Given the description of an element on the screen output the (x, y) to click on. 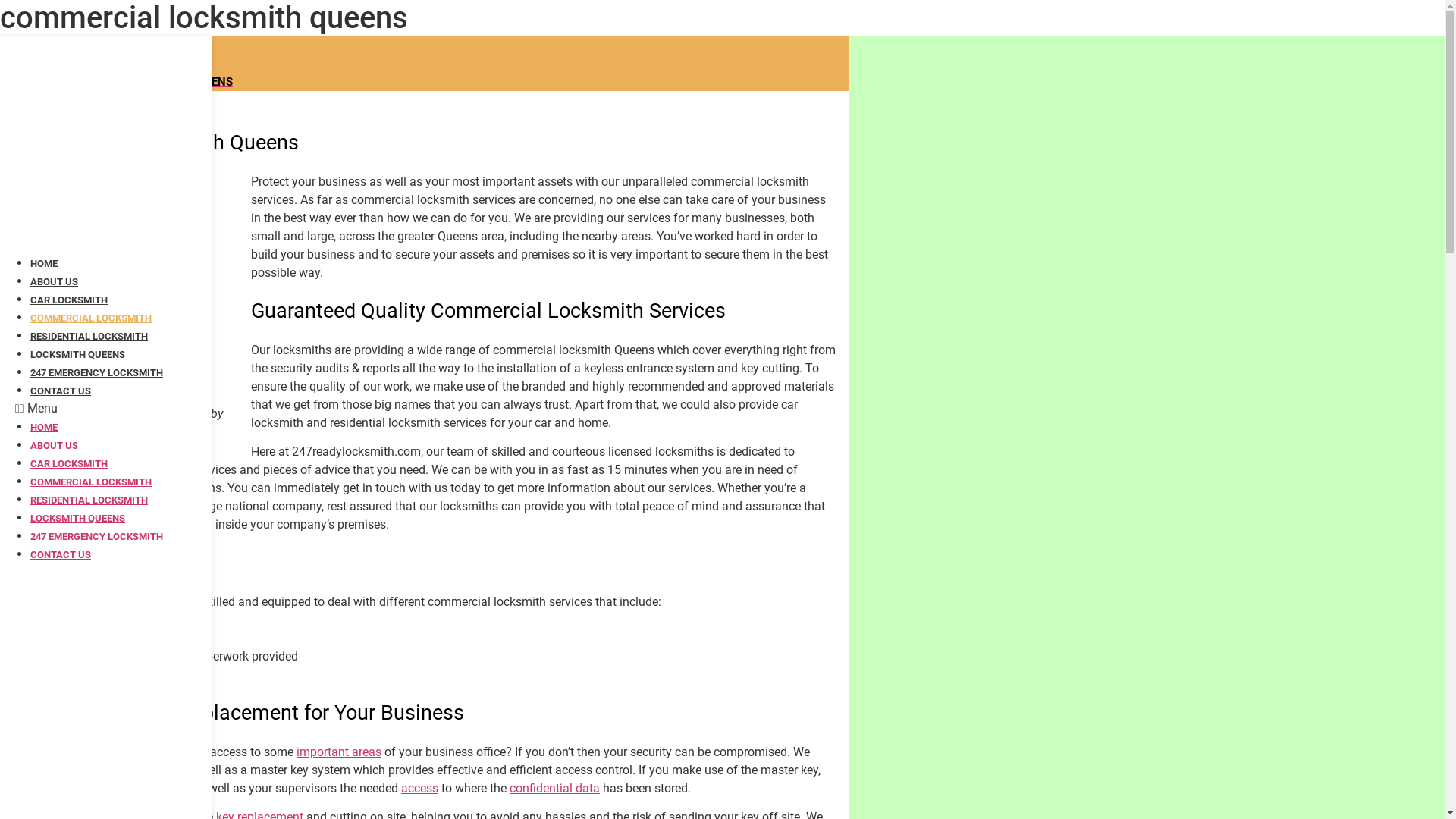
ABOUT US Element type: text (54, 281)
CAR LOCKSMITH Element type: text (68, 299)
HOME Element type: text (43, 427)
RESIDENTIAL LOCKSMITH Element type: text (88, 499)
RESIDENTIAL LOCKSMITH Element type: text (88, 336)
CAR LOCKSMITH Element type: text (68, 463)
247 EMERGENCY LOCKSMITH Element type: text (96, 536)
COMMERCIAL LOCKSMITH Element type: text (90, 481)
access Element type: text (419, 788)
HOME Element type: text (43, 263)
(516) 299-6261 Element type: text (71, 44)
CONTACT US Element type: text (60, 554)
managers Element type: text (162, 788)
CONTACT US Element type: text (60, 390)
confidential data Element type: text (554, 788)
247 EMERGENCY LOCKSMITH Element type: text (96, 372)
ABOUT US Element type: text (54, 445)
24/7 EMERGENCY LOCKSMITH QUEENS Element type: text (129, 81)
important areas Element type: text (338, 751)
CONTACT US Element type: text (60, 63)
LOCKSMITH QUEENS Element type: text (77, 518)
LOCKSMITH QUEENS Element type: text (77, 354)
COMMERCIAL LOCKSMITH Element type: text (90, 317)
